Given the description of an element on the screen output the (x, y) to click on. 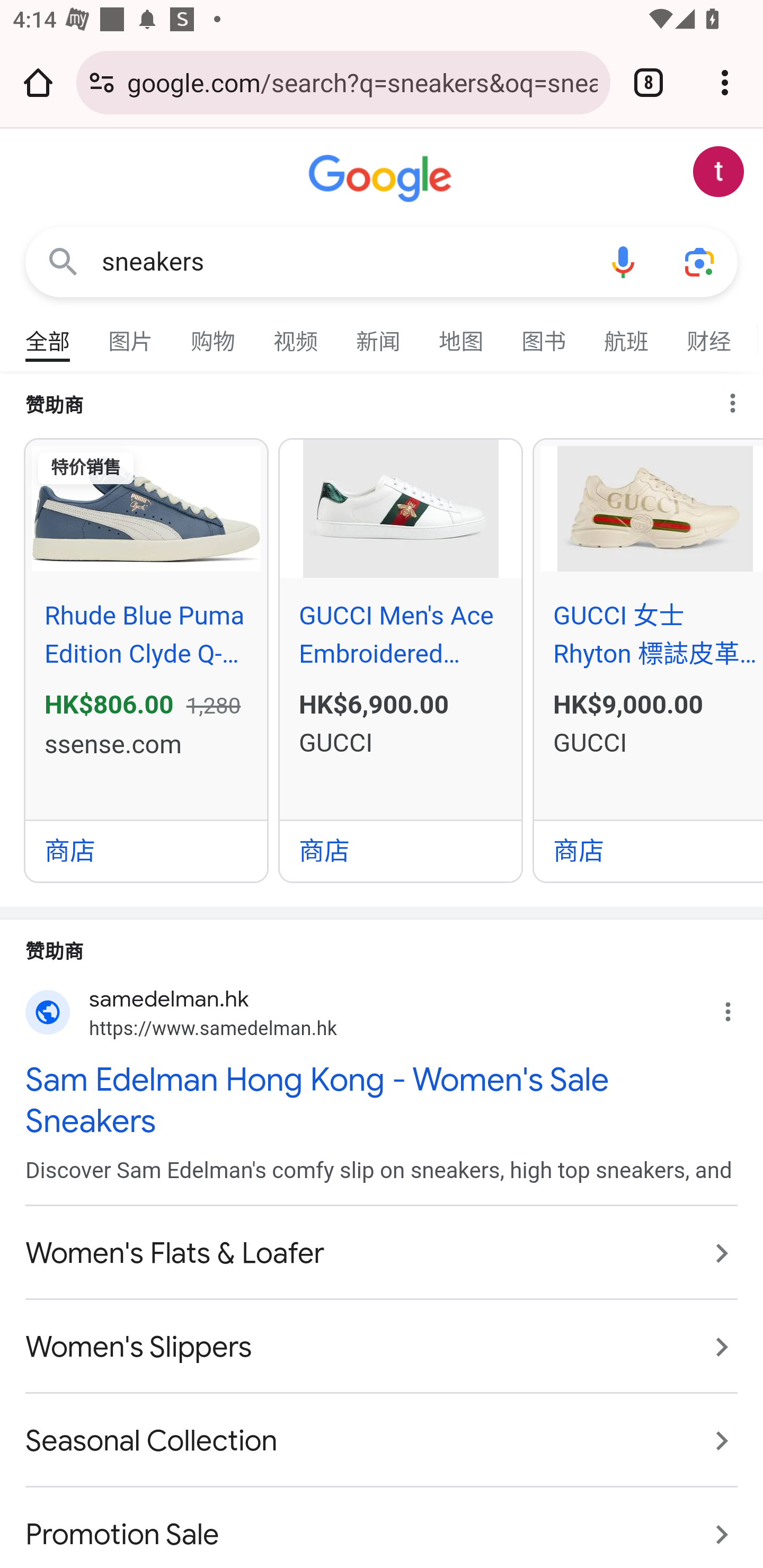
Open the home page (38, 82)
Connection is secure (101, 82)
Switch or close tabs (648, 82)
Customize and control Google Chrome (724, 82)
Google (381, 179)
Google 账号： test appium (testappium002@gmail.com) (718, 171)
Google 搜索 (63, 262)
使用拍照功能或照片进行搜索 (699, 262)
sneakers (343, 261)
图片 (131, 333)
购物 (213, 333)
视频 (296, 333)
新闻 (379, 333)
地图 (461, 333)
图书 (544, 333)
航班 (627, 333)
财经 (709, 333)
为什么会显示该广告？ (740, 398)
商店 商店 商店 (146, 849)
商店 商店 商店 (400, 849)
商店 商店 商店 (648, 849)
为什么会显示该广告？ (738, 1007)
Sam Edelman Hong Kong - Women's Sale Sneakers (381, 1099)
Women's Flats & Loafer (381, 1252)
Women's Slippers (381, 1346)
Seasonal Collection (381, 1440)
Promotion Sale (381, 1524)
